Given the description of an element on the screen output the (x, y) to click on. 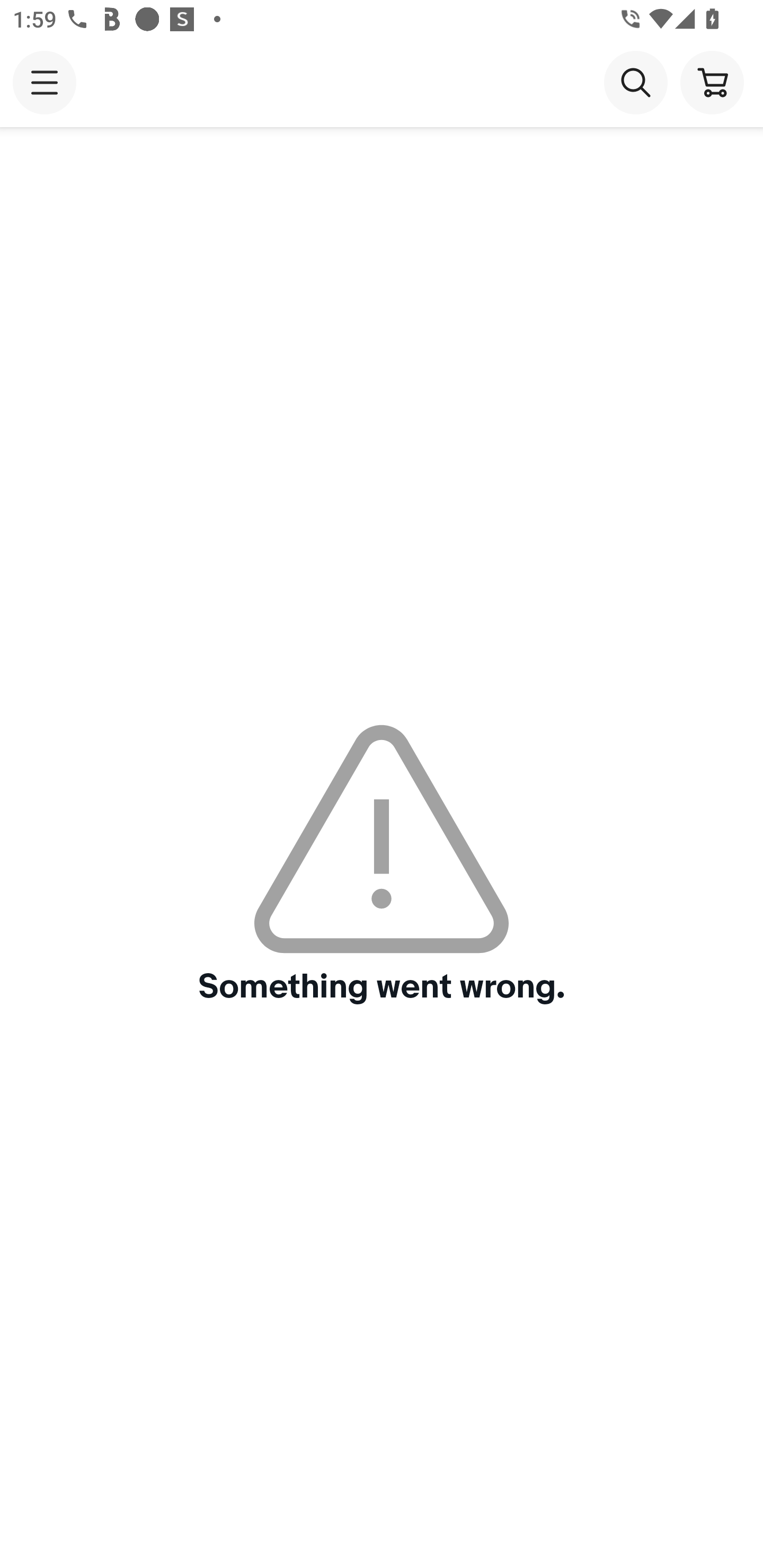
Main navigation, open (44, 82)
Search (635, 81)
Cart button shopping cart (711, 81)
